Given the description of an element on the screen output the (x, y) to click on. 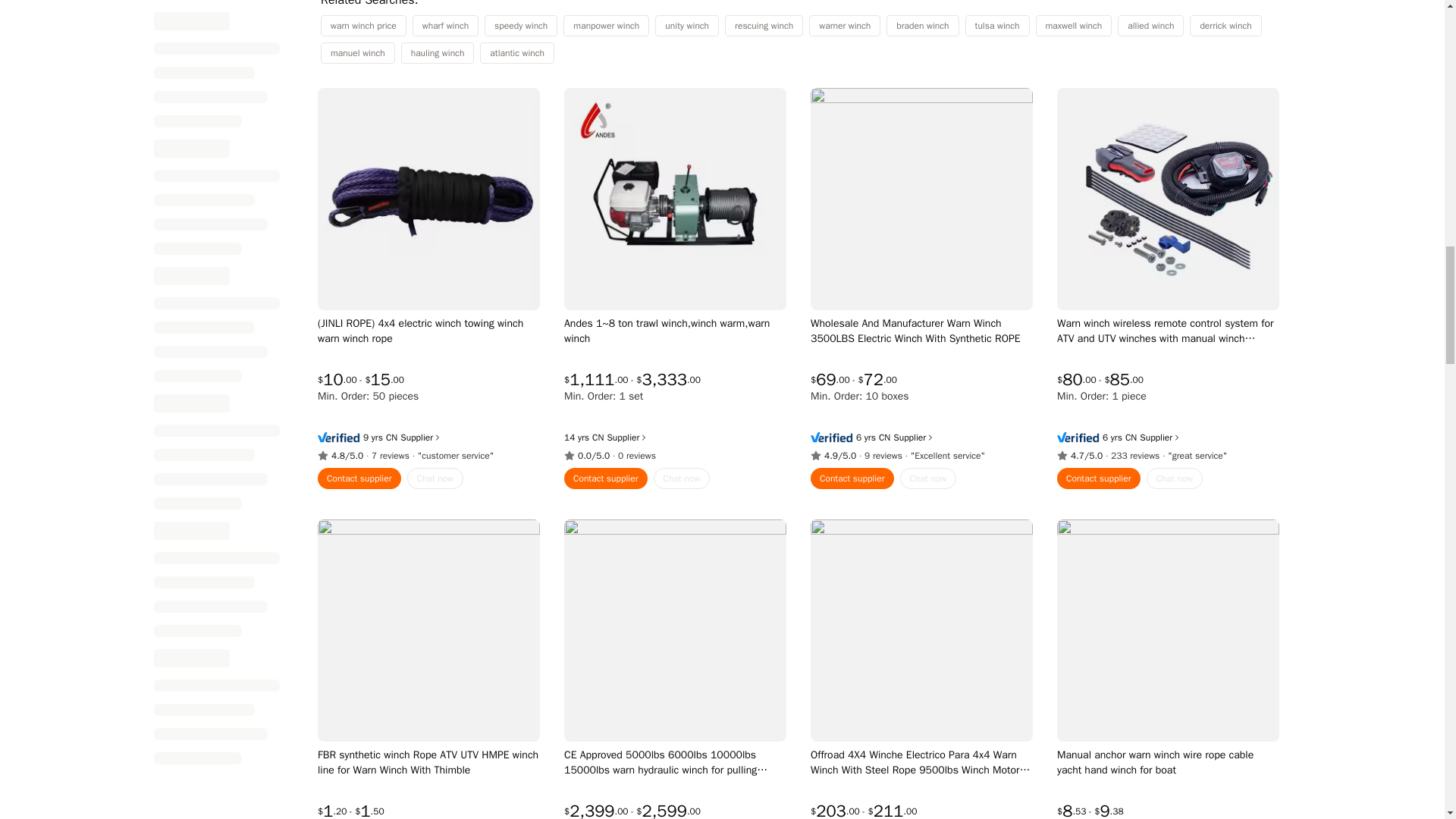
Changshu Andes Electric Power Tools Manufacturing Co., Ltd. (598, 437)
Shanghai Jinli Special Rope Co., Ltd (390, 437)
Guangzhou Unity 4WD Accessories Co., Limited (883, 437)
Max Power Auto Racing Products Co., Ltd. (1129, 437)
